Given the description of an element on the screen output the (x, y) to click on. 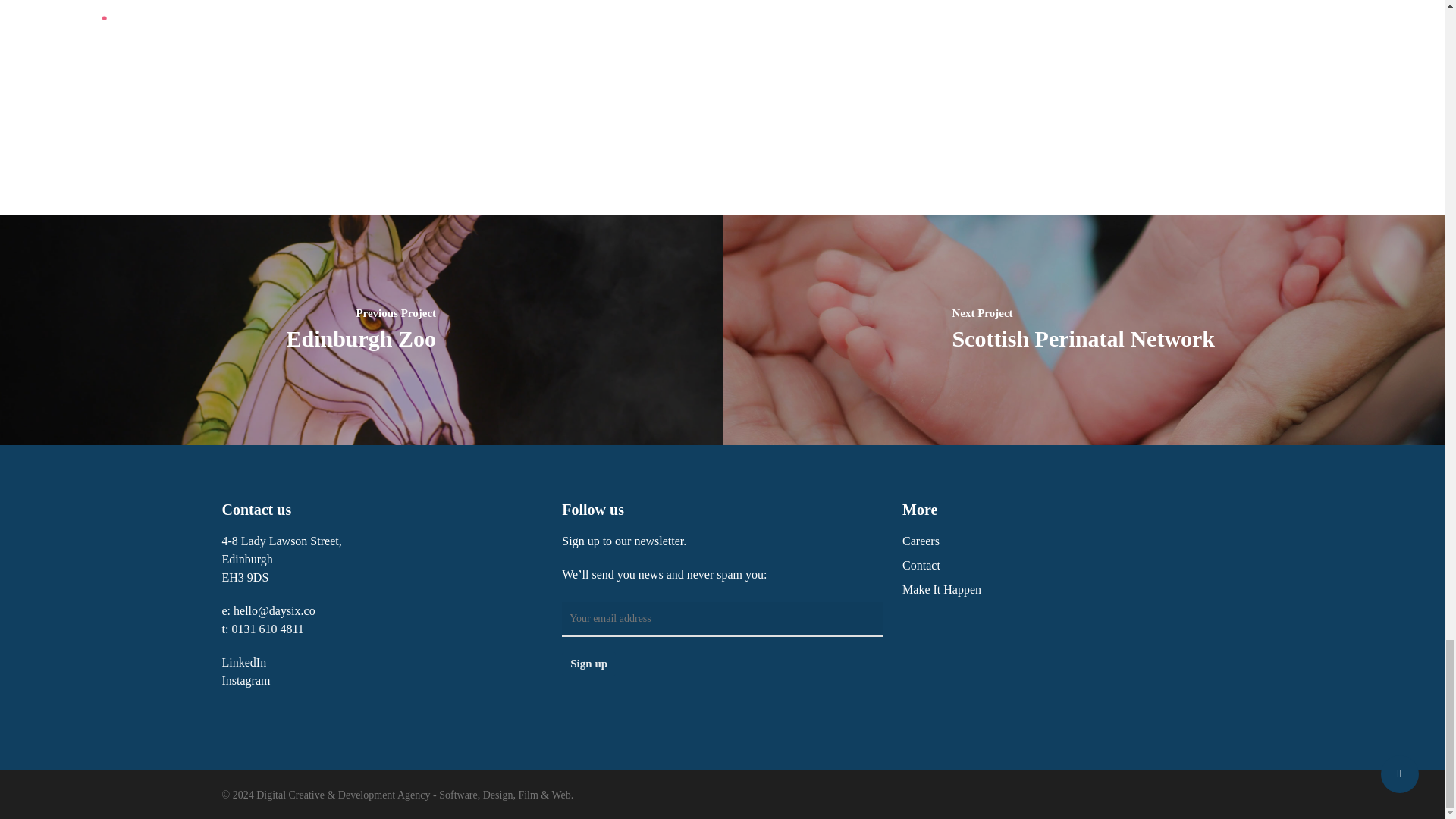
Contact (1062, 565)
Make It Happen (1062, 589)
0131 610 4811 (266, 628)
Sign up (588, 663)
Instagram (245, 680)
LinkedIn (243, 662)
Sign up (588, 663)
Careers (1062, 541)
